Given the description of an element on the screen output the (x, y) to click on. 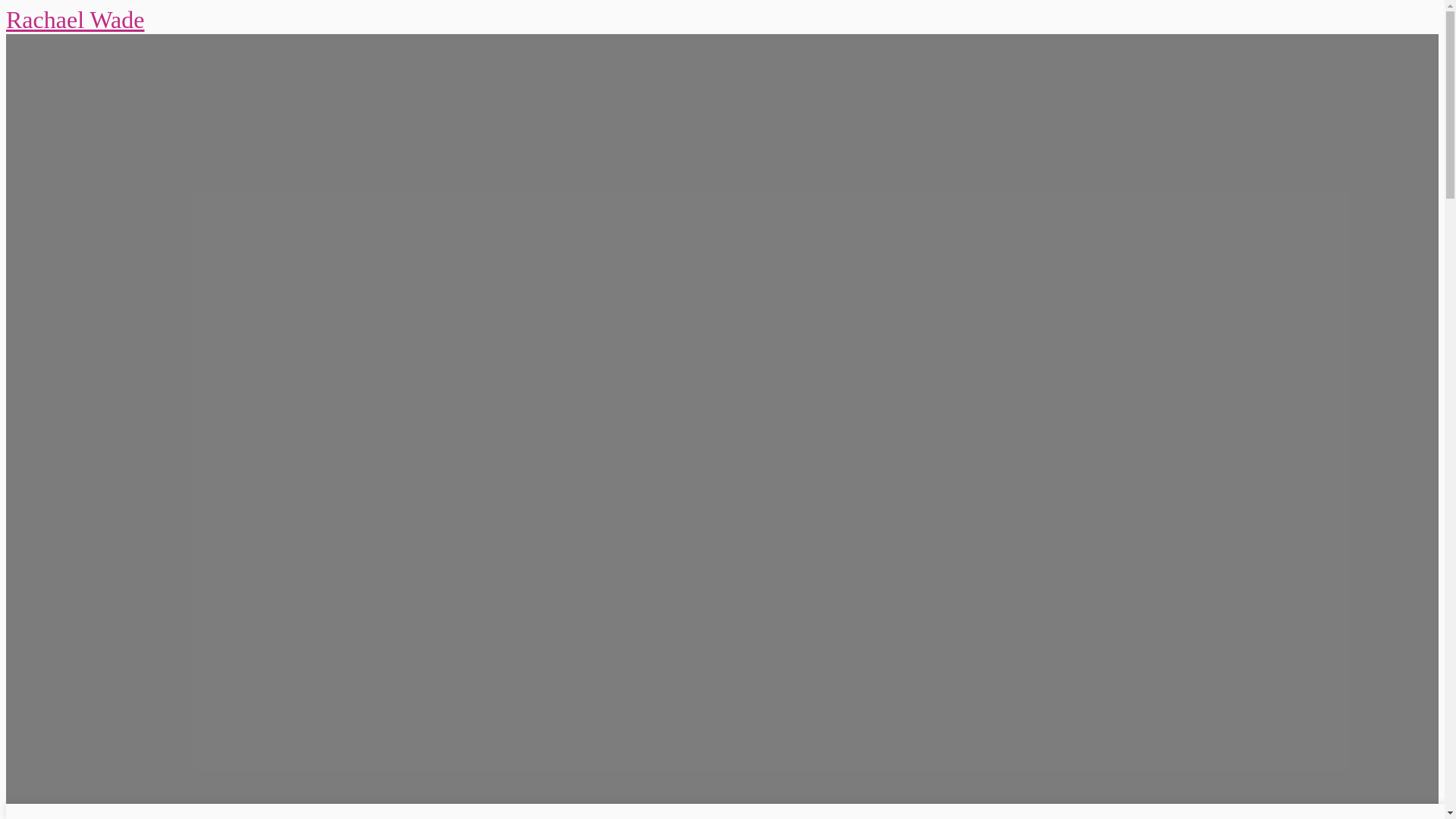
Rachael Wade (74, 19)
